Given the description of an element on the screen output the (x, y) to click on. 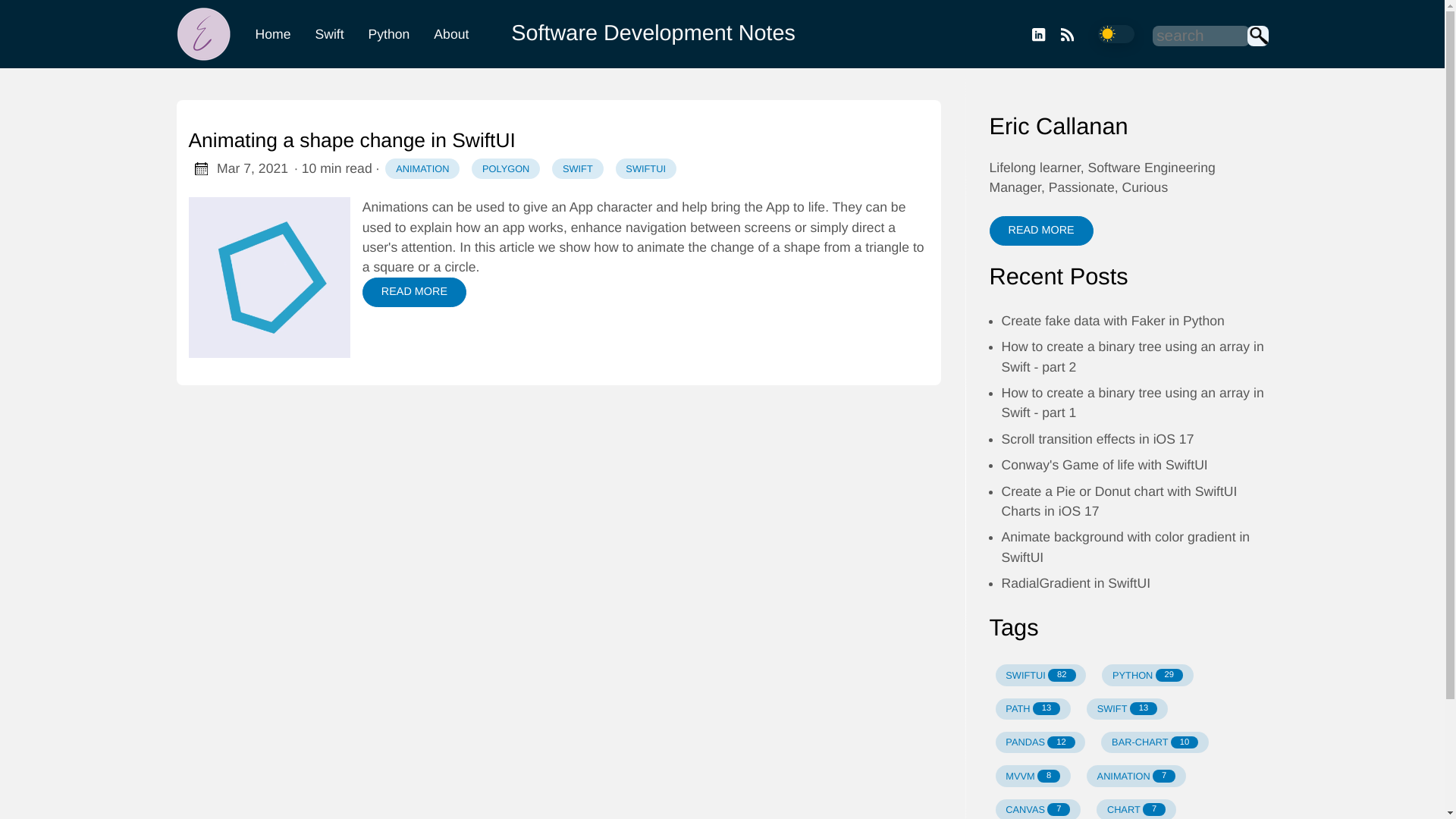
rss (1065, 34)
How to create a binary tree using an array in Swift - part 2 (1132, 356)
Scroll transition effects in iOS 17 (1040, 674)
Create fake data with Faker in Python (1097, 438)
polygon (1112, 320)
animation (1126, 708)
SWIFTUI (1032, 775)
